Given the description of an element on the screen output the (x, y) to click on. 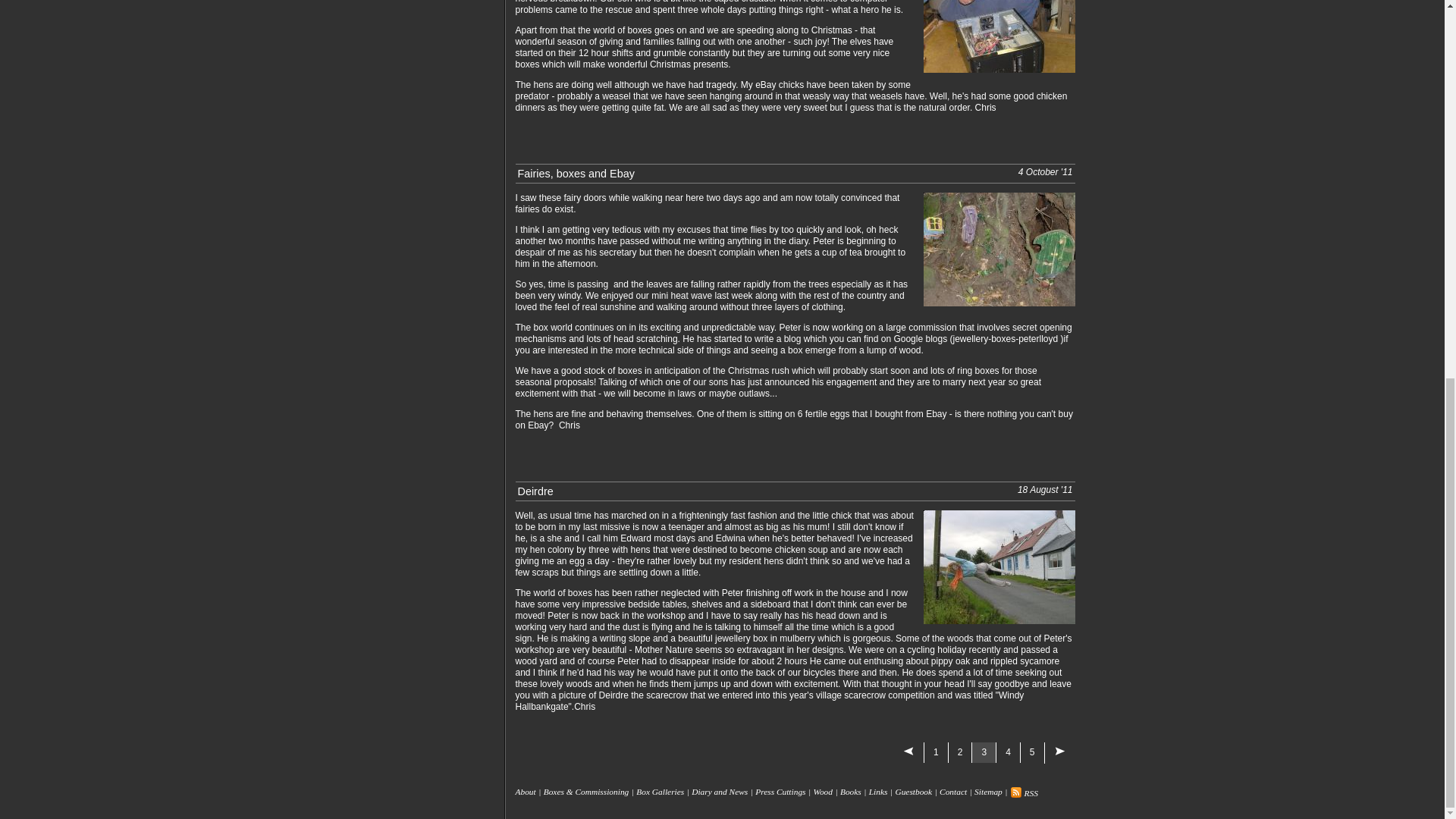
3 (983, 752)
Links (878, 791)
Box Galleries (660, 791)
Diary and News (719, 791)
Contact (952, 791)
Press Cuttings (780, 791)
Sitemap (988, 791)
4 (1007, 752)
2 (959, 752)
5 (1031, 752)
